Given the description of an element on the screen output the (x, y) to click on. 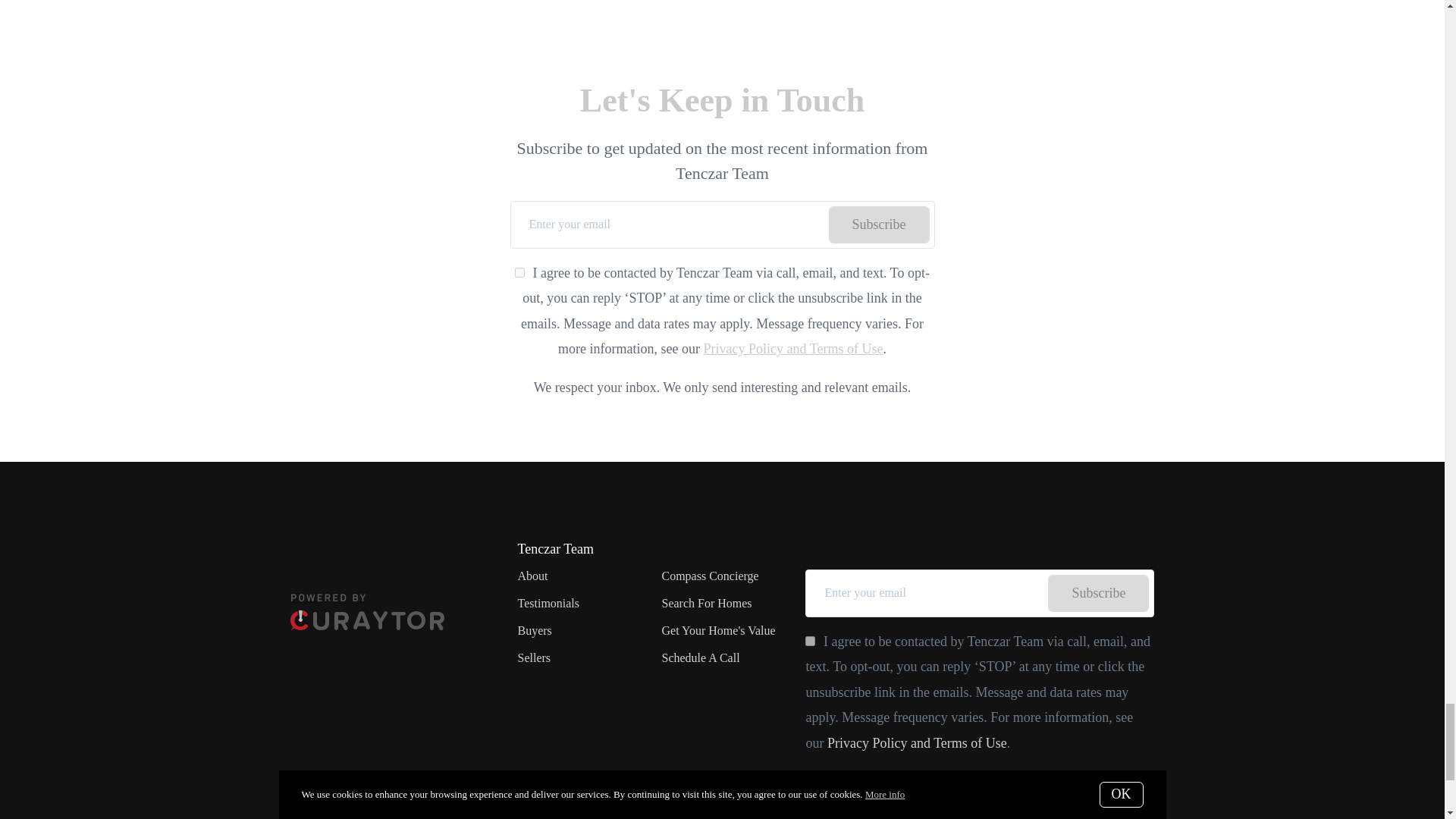
curaytor-horizontal (366, 611)
on (810, 641)
on (519, 272)
